Given the description of an element on the screen output the (x, y) to click on. 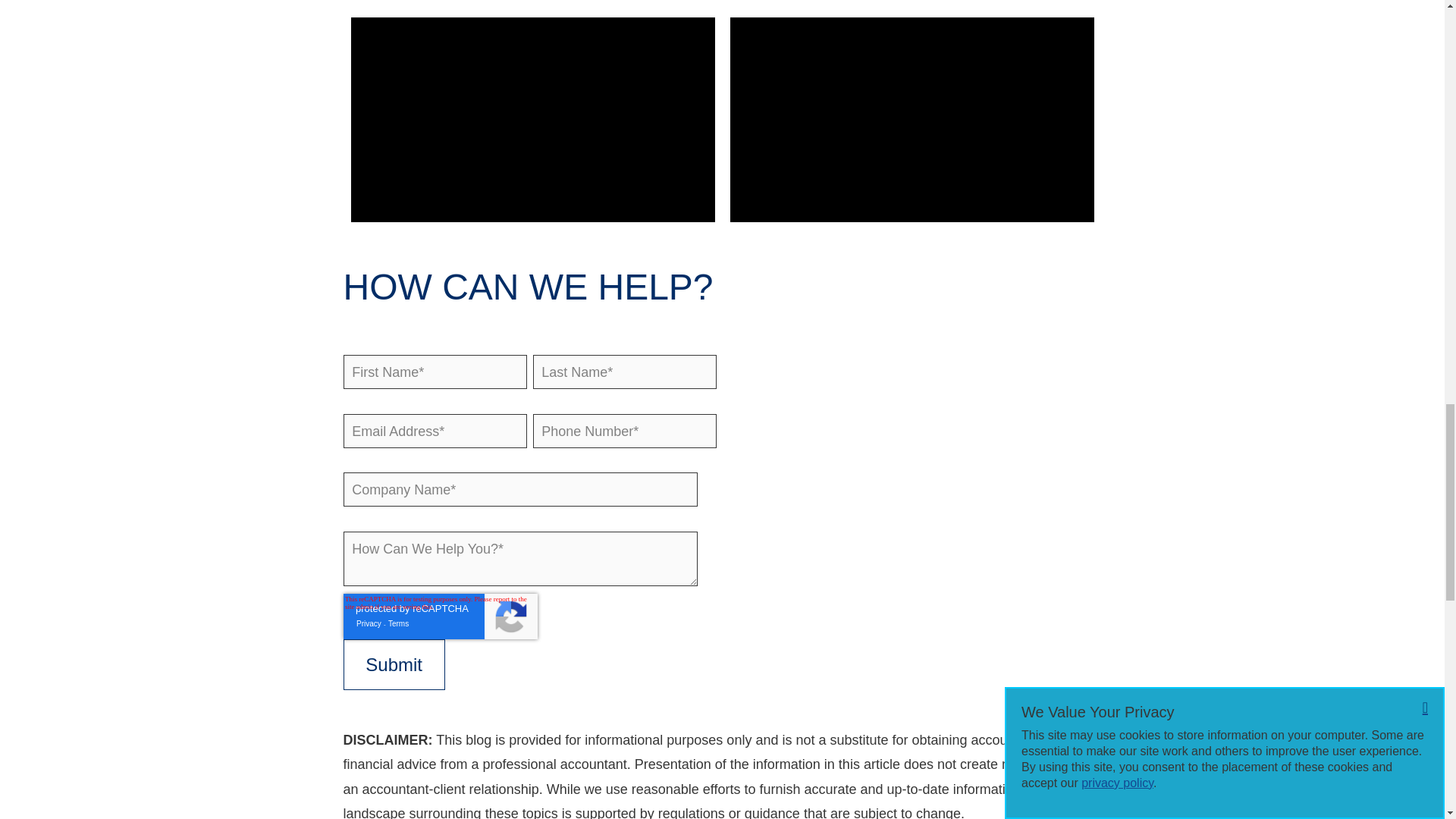
vimeo Video Player (532, 119)
reCAPTCHA (439, 616)
vimeo Video Player (911, 119)
Submit (393, 664)
